Given the description of an element on the screen output the (x, y) to click on. 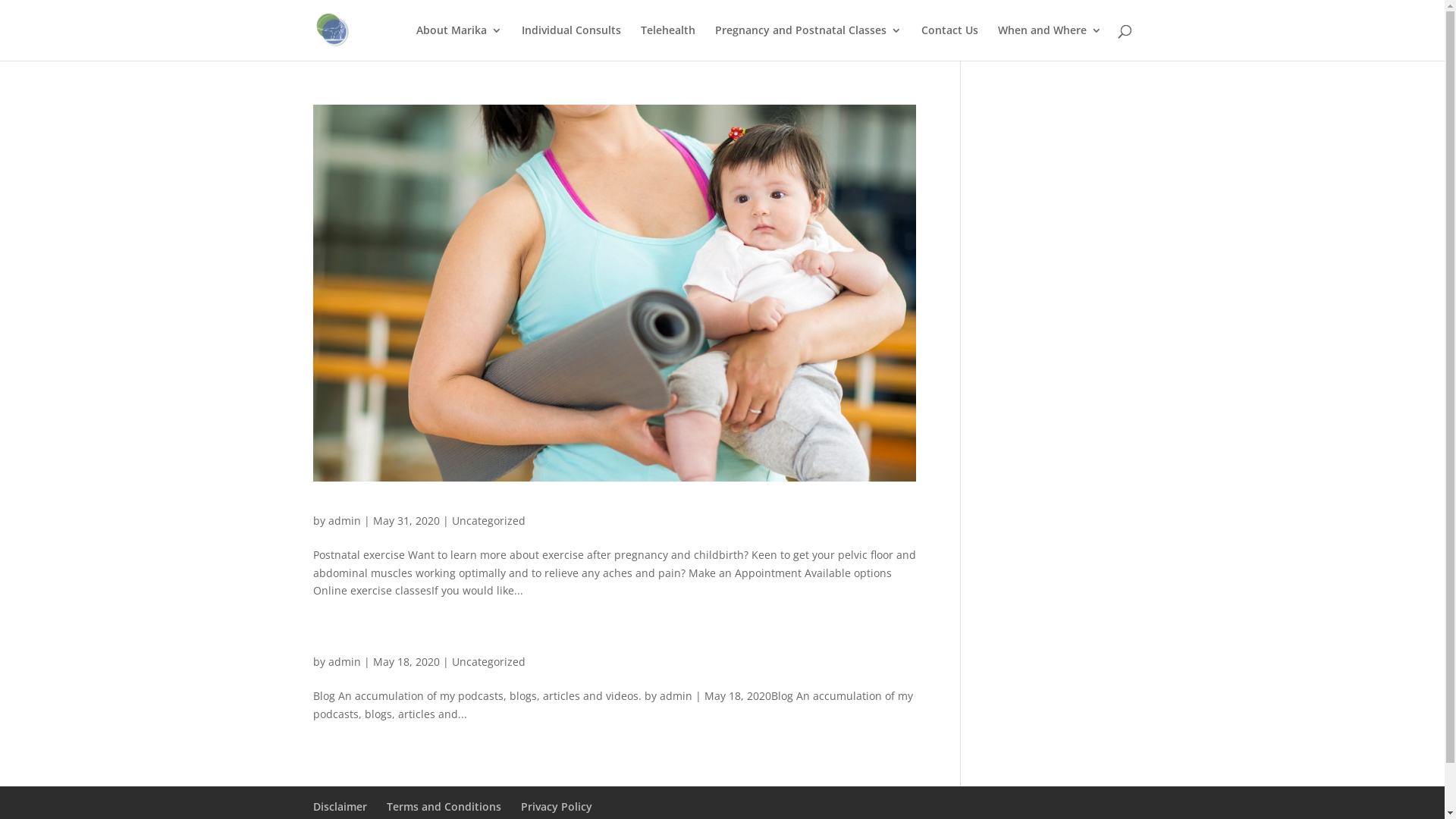
Contact Us Element type: text (948, 42)
Uncategorized Element type: text (488, 520)
About Marika Element type: text (458, 42)
admin Element type: text (343, 520)
When and Where Element type: text (1049, 42)
Terms and Conditions Element type: text (443, 806)
Disclaimer Element type: text (339, 806)
Uncategorized Element type: text (488, 661)
Privacy Policy Element type: text (555, 806)
admin Element type: text (343, 661)
Individual Consults Element type: text (571, 42)
Telehealth Element type: text (667, 42)
Pregnancy and Postnatal Classes Element type: text (807, 42)
